Given the description of an element on the screen output the (x, y) to click on. 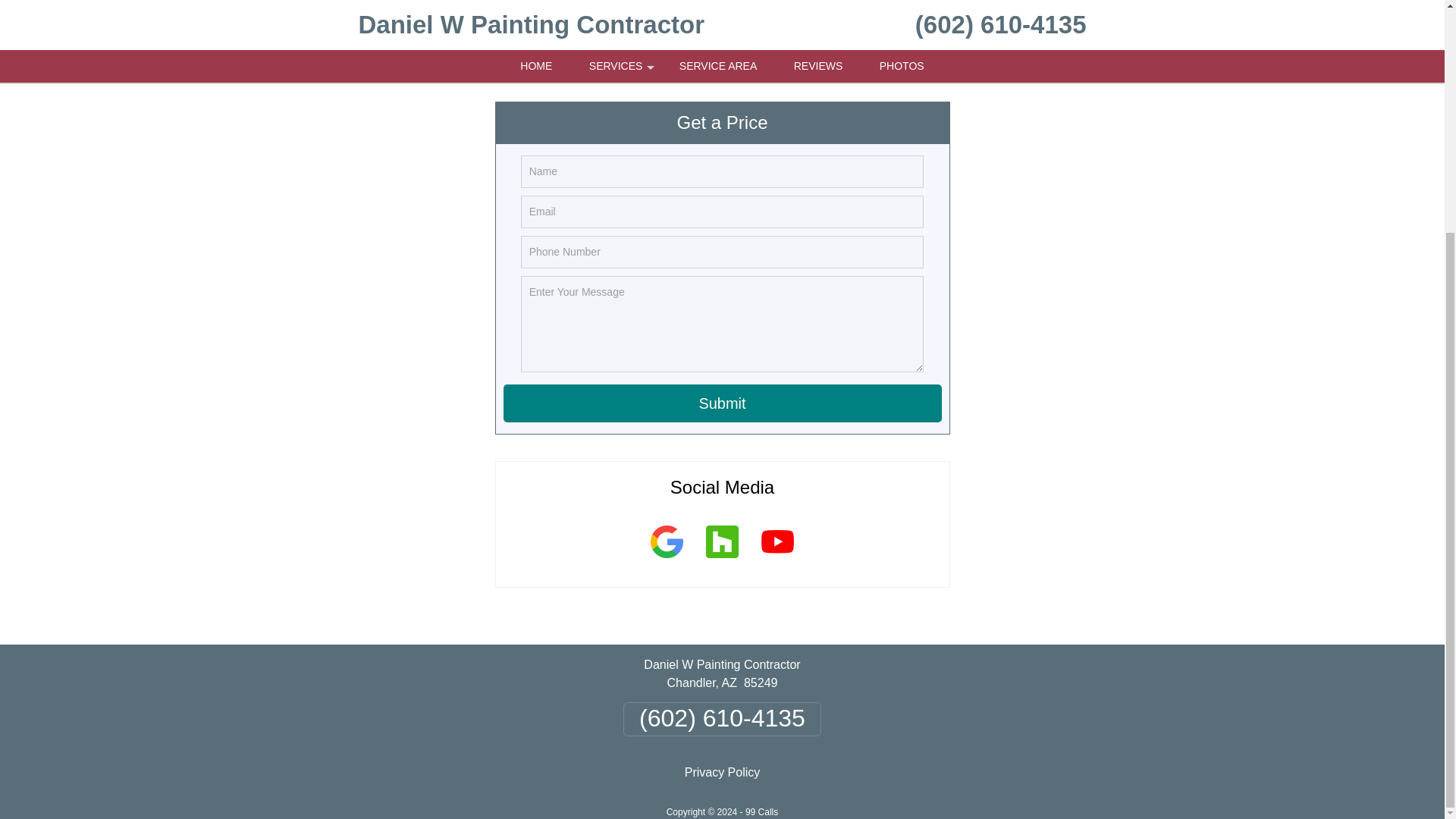
Houzz (721, 560)
Mesa House Painting (464, 16)
Privacy Policy (722, 771)
Submit (722, 403)
YouTube (777, 560)
Google (666, 560)
